Given the description of an element on the screen output the (x, y) to click on. 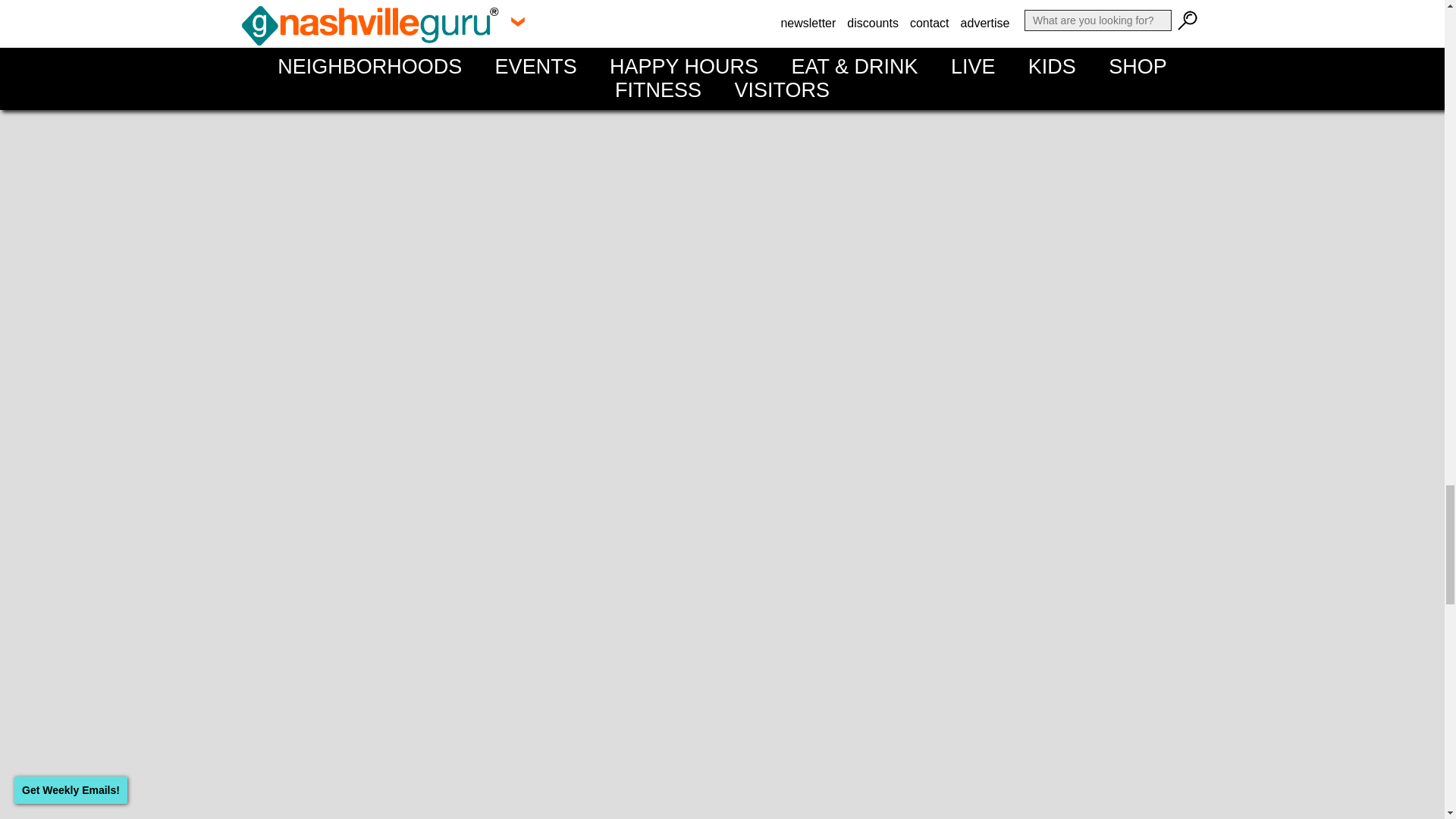
3rd party ad content (1093, 196)
3rd party ad content (1093, 43)
